Given the description of an element on the screen output the (x, y) to click on. 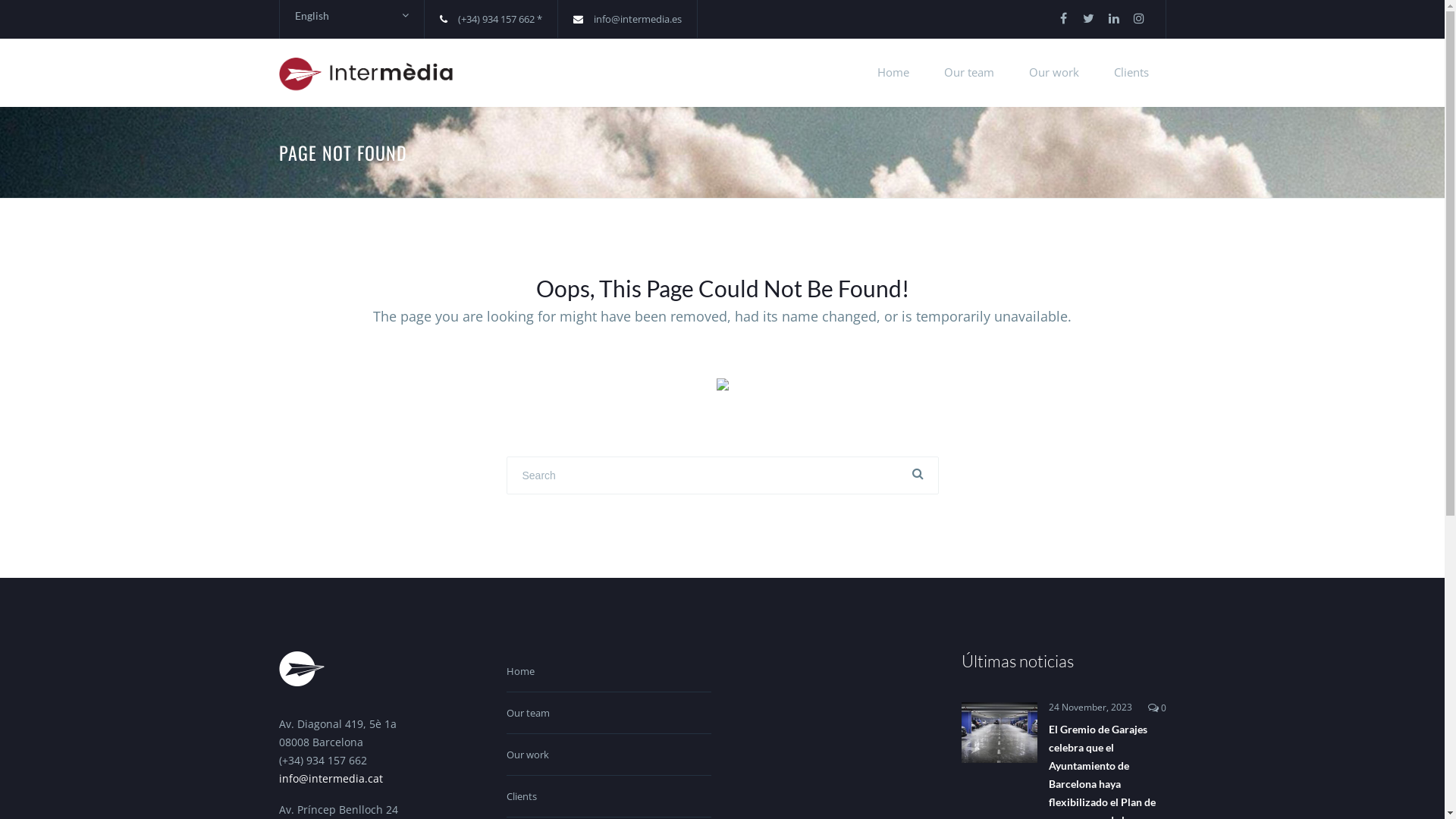
Our team Element type: text (968, 72)
Clients Element type: text (608, 796)
Home Element type: text (892, 72)
Our work Element type: text (1053, 72)
Our team Element type: text (608, 713)
info@intermedia.es Element type: text (636, 18)
info@intermedia.cat Element type: text (330, 778)
English Element type: text (351, 15)
Our work Element type: text (608, 754)
0 Element type: text (1157, 707)
Home Element type: text (608, 671)
Clients Element type: text (1131, 72)
